Given the description of an element on the screen output the (x, y) to click on. 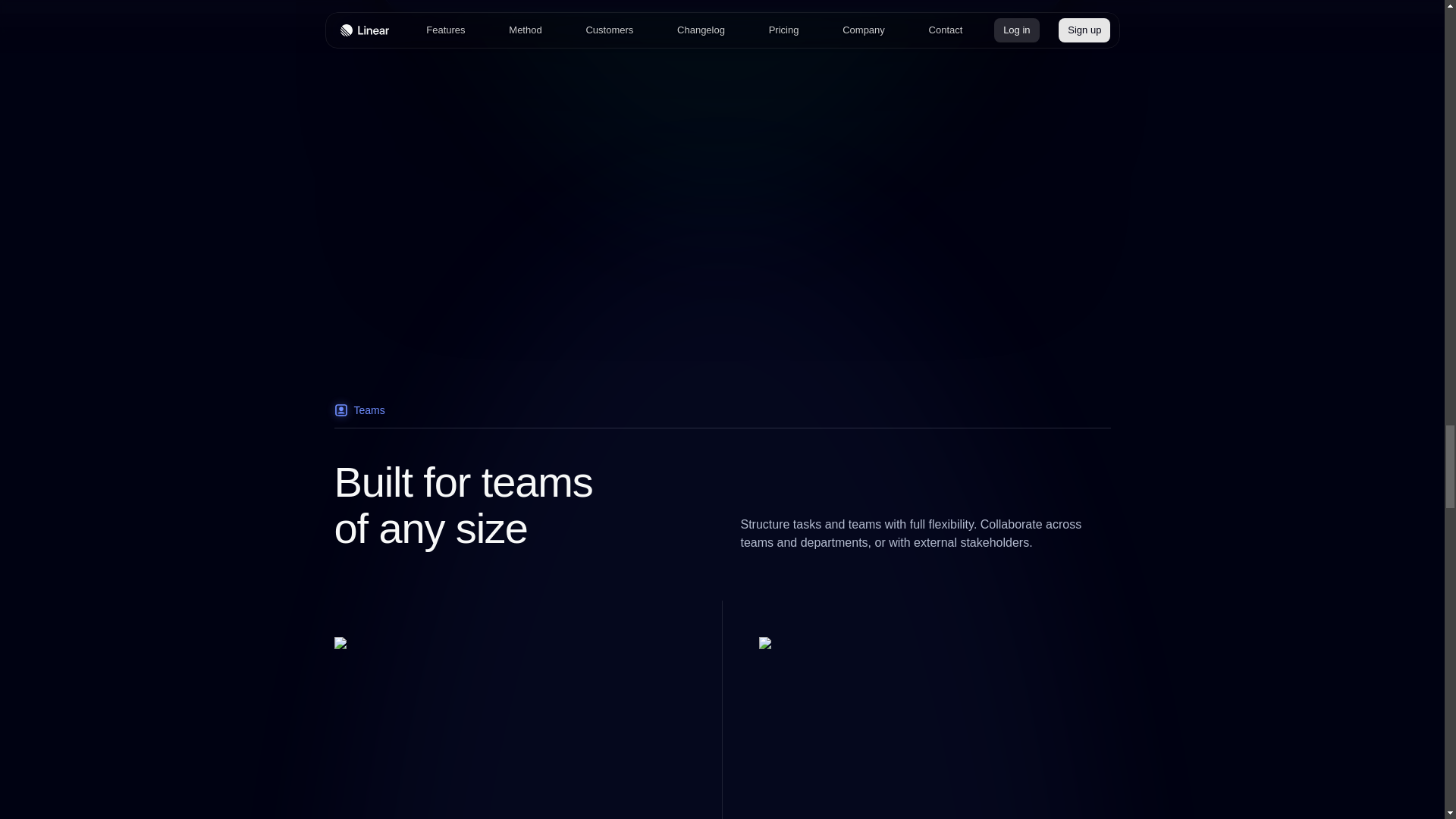
Teams (721, 415)
